Given the description of an element on the screen output the (x, y) to click on. 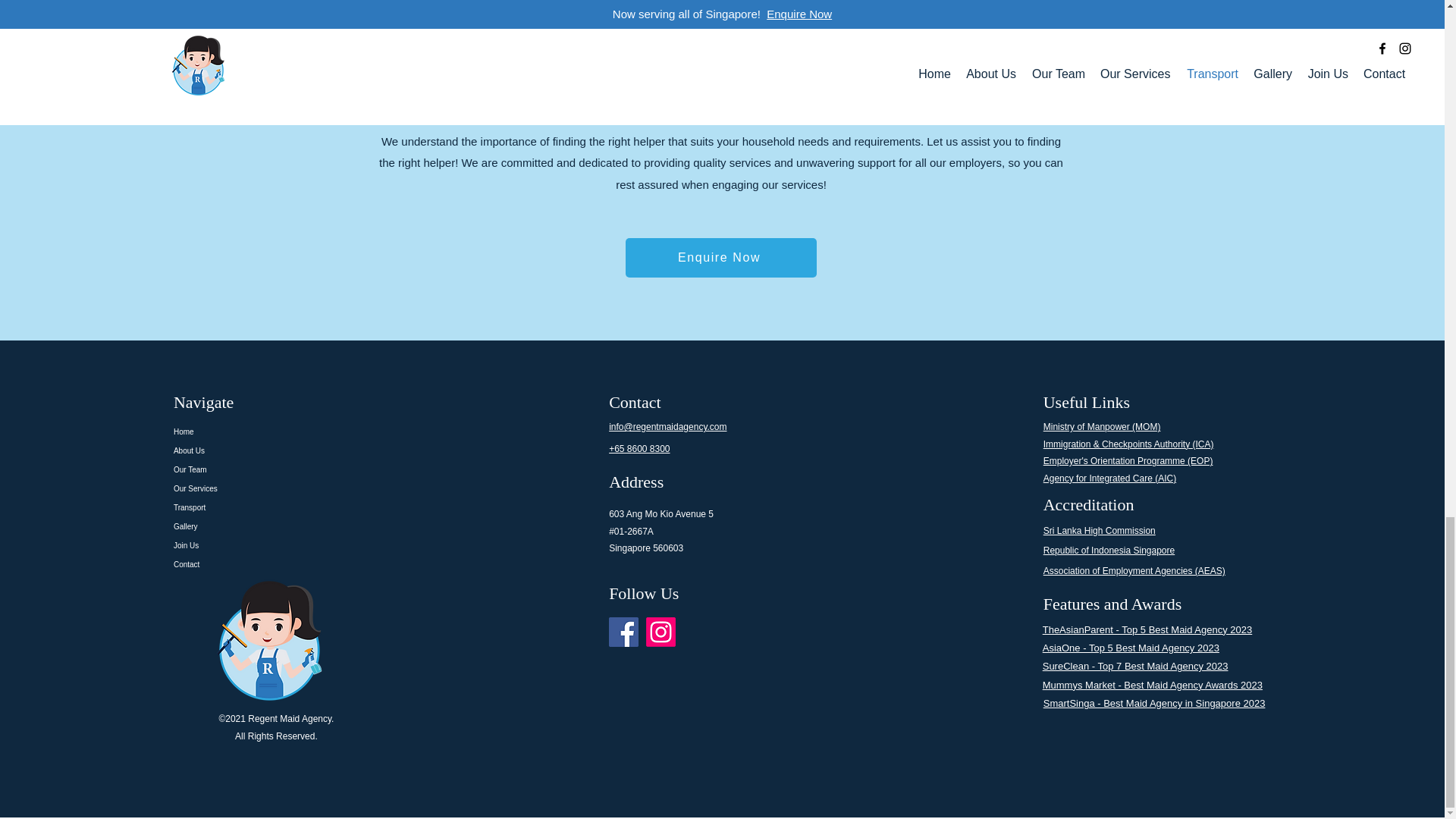
Join Us (283, 545)
About Us (283, 450)
Contact (283, 564)
Transport (283, 506)
Our Services (283, 488)
Our Team (283, 469)
Home (283, 431)
Enquire Now (719, 257)
Gallery (283, 526)
